Given the description of an element on the screen output the (x, y) to click on. 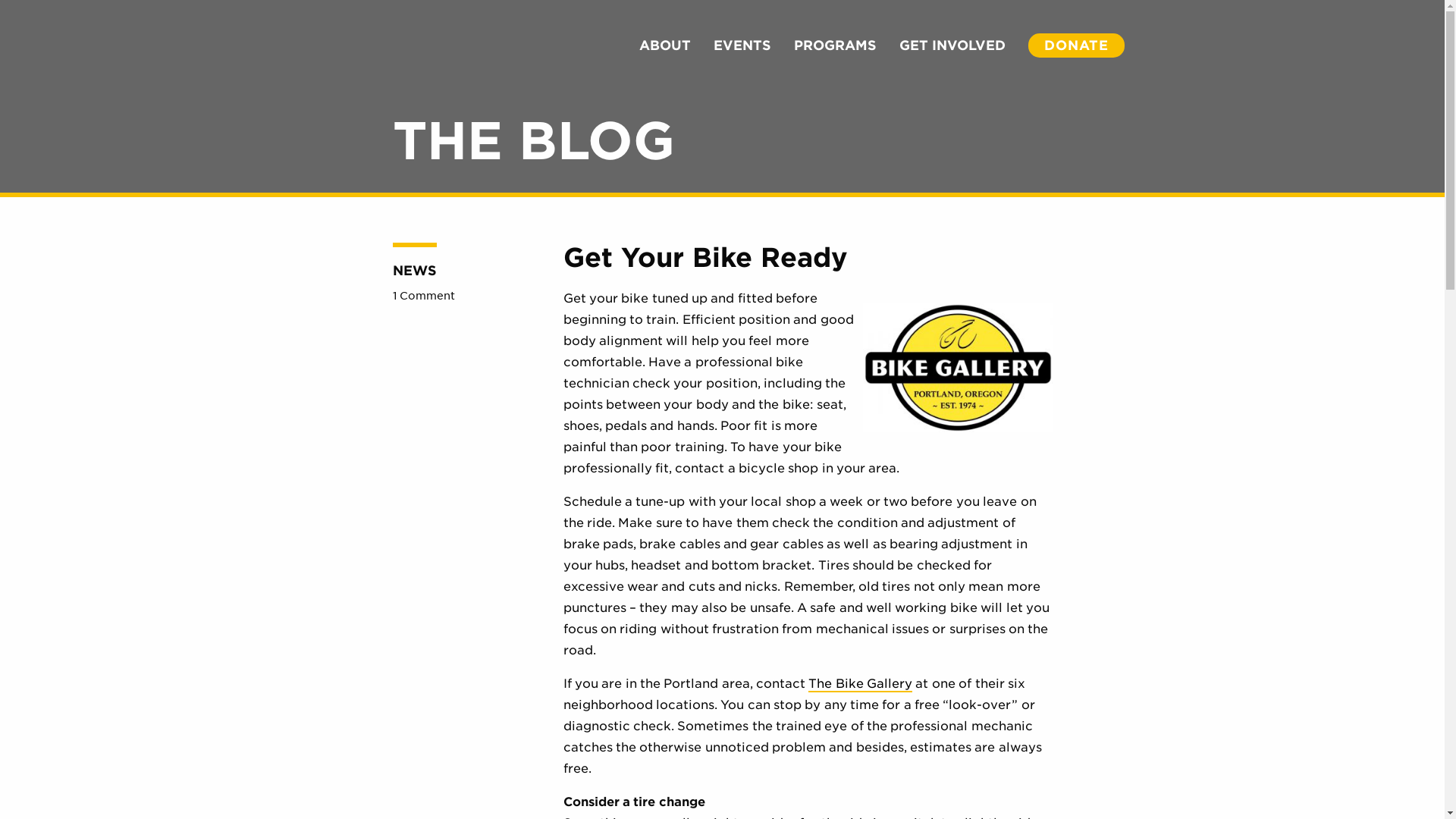
Search (1158, 45)
EVENTS (741, 44)
THE BLOG (534, 139)
DONATE (1075, 44)
The Bike Gallery (860, 684)
Cycle Oregon (106, 51)
NEWS (414, 264)
GET INVOLVED (952, 44)
PROGRAMS (834, 44)
ABOUT (664, 44)
